Given the description of an element on the screen output the (x, y) to click on. 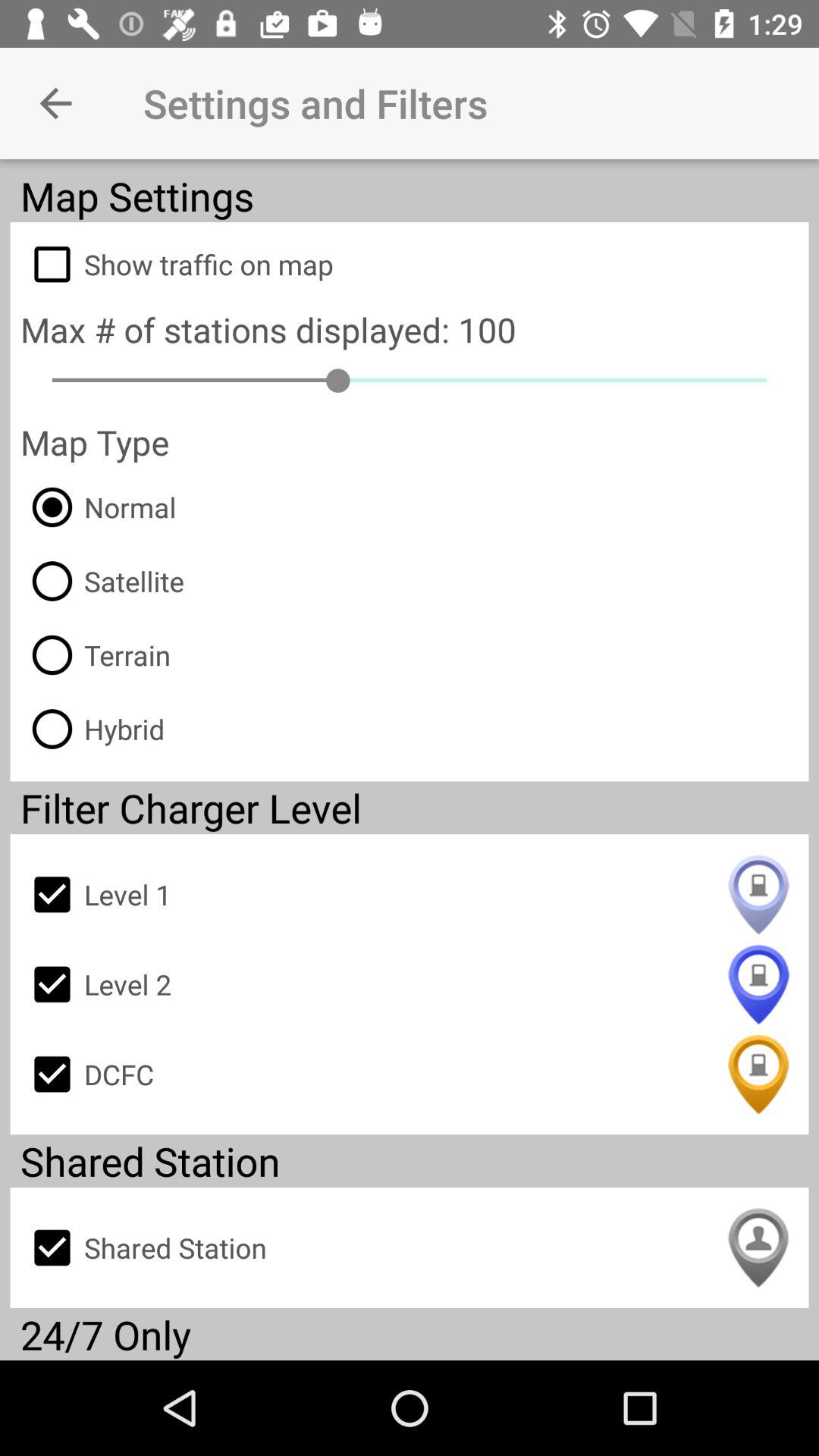
swipe until satellite item (102, 581)
